Given the description of an element on the screen output the (x, y) to click on. 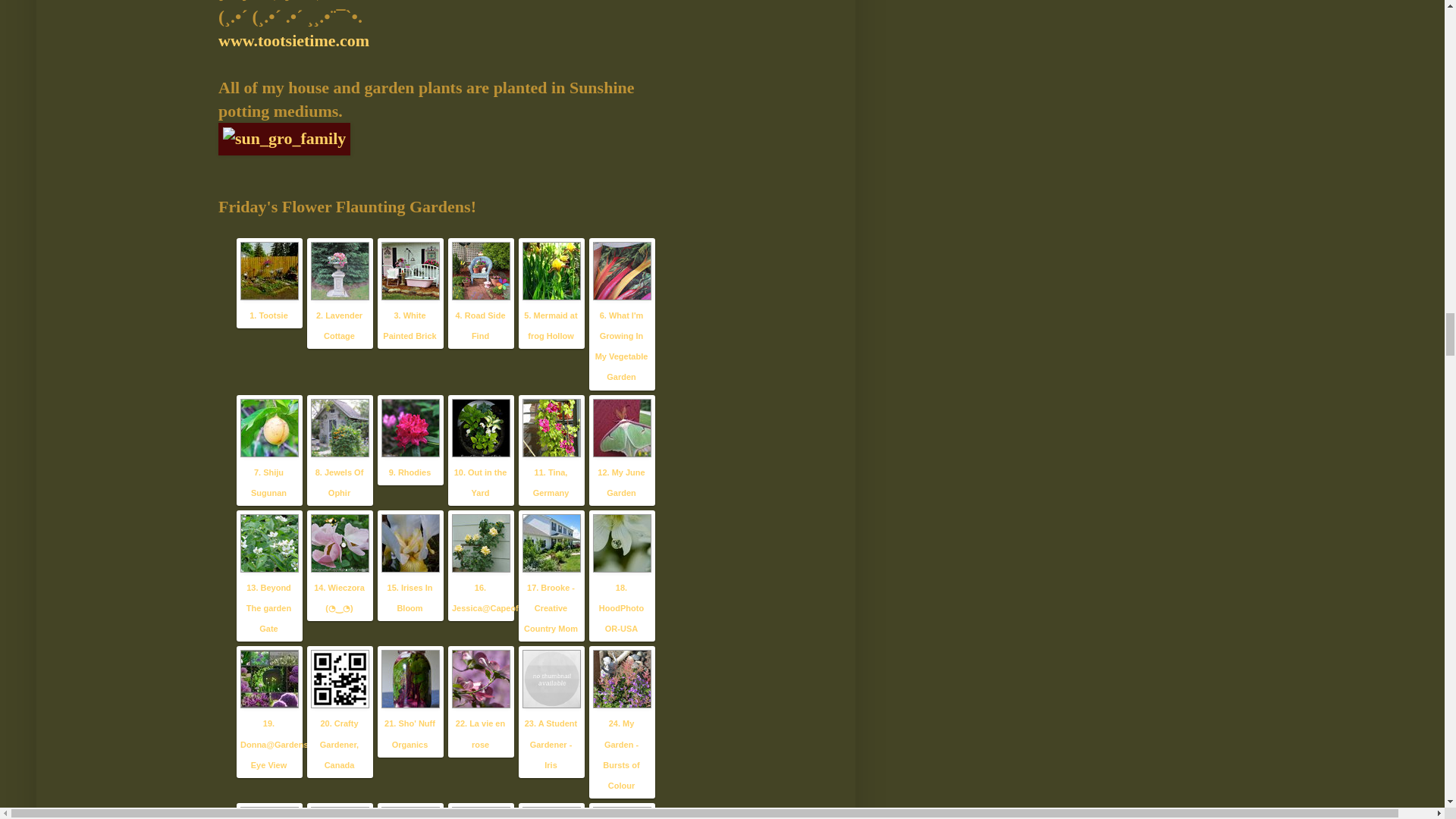
www.tootsietime.com (293, 40)
1. Tootsie (268, 315)
